Given the description of an element on the screen output the (x, y) to click on. 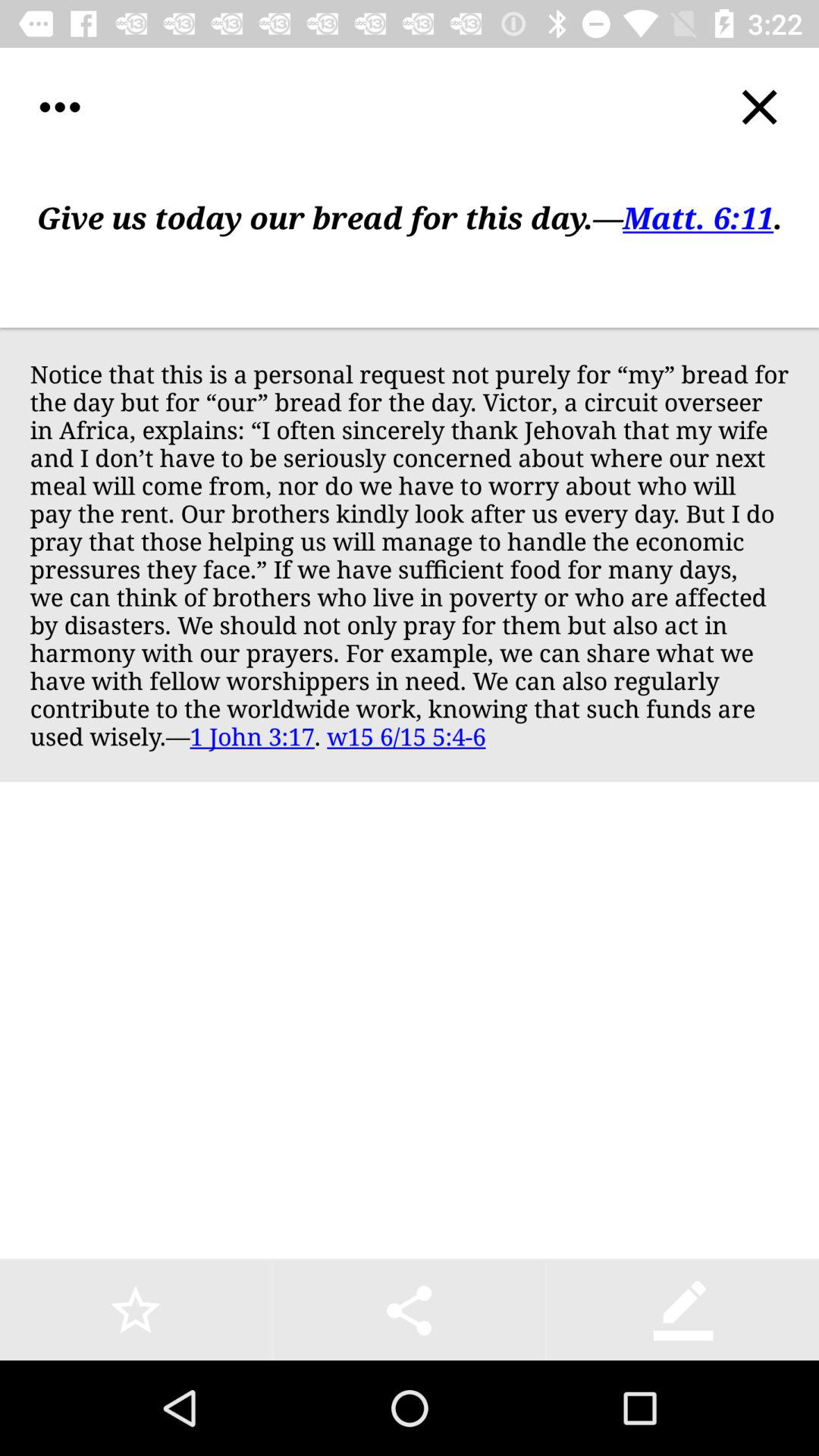
press app above the give us today icon (759, 107)
